Given the description of an element on the screen output the (x, y) to click on. 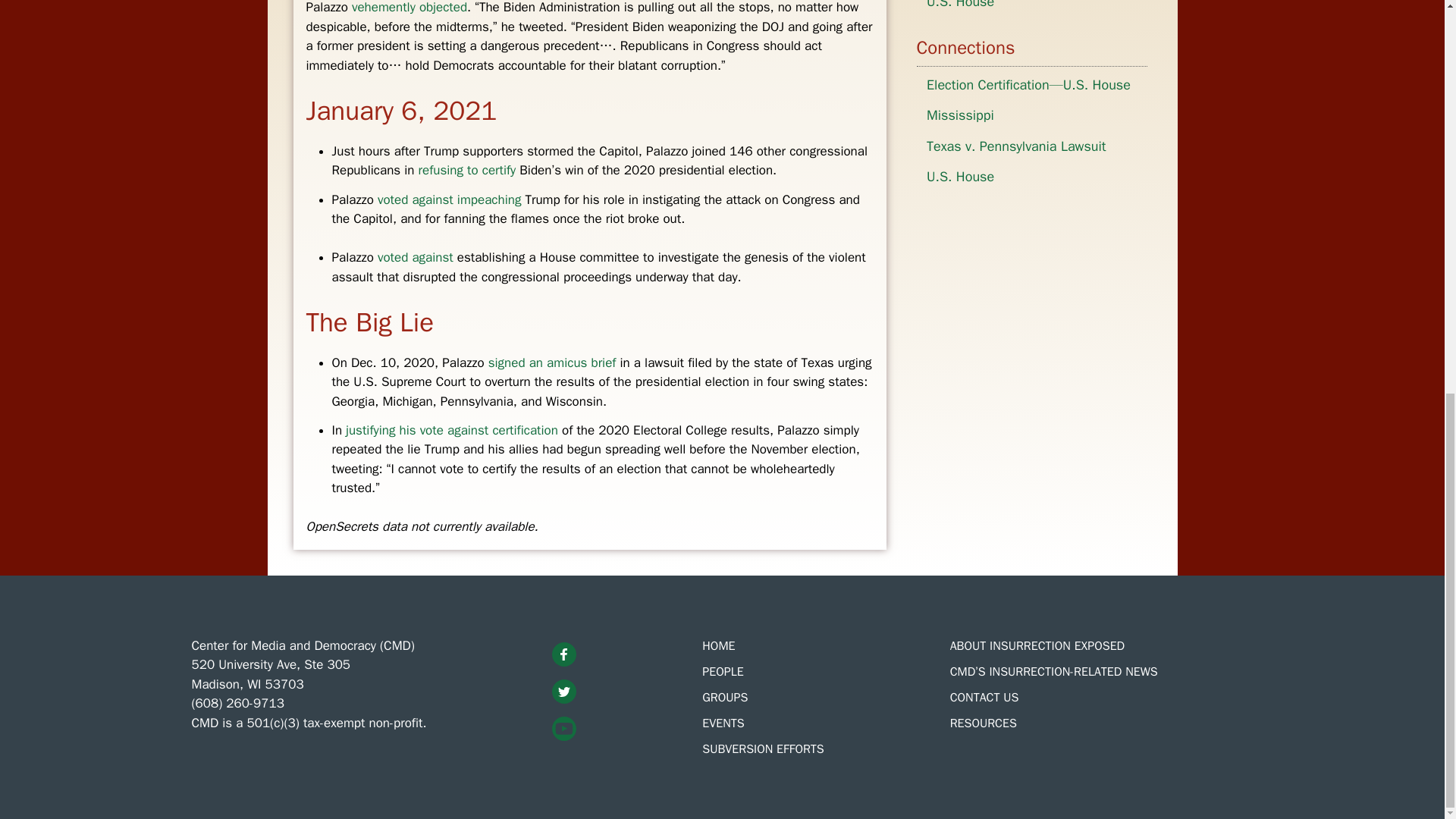
voted against (414, 257)
vehemently objected (409, 7)
refusing to certify (467, 170)
Facebook (563, 654)
YouTube (563, 728)
Twitter (563, 691)
justifying his vote against certification (451, 430)
voted against impeaching (449, 199)
Scroll back to top (1406, 783)
signed an amicus brief (549, 362)
